Given the description of an element on the screen output the (x, y) to click on. 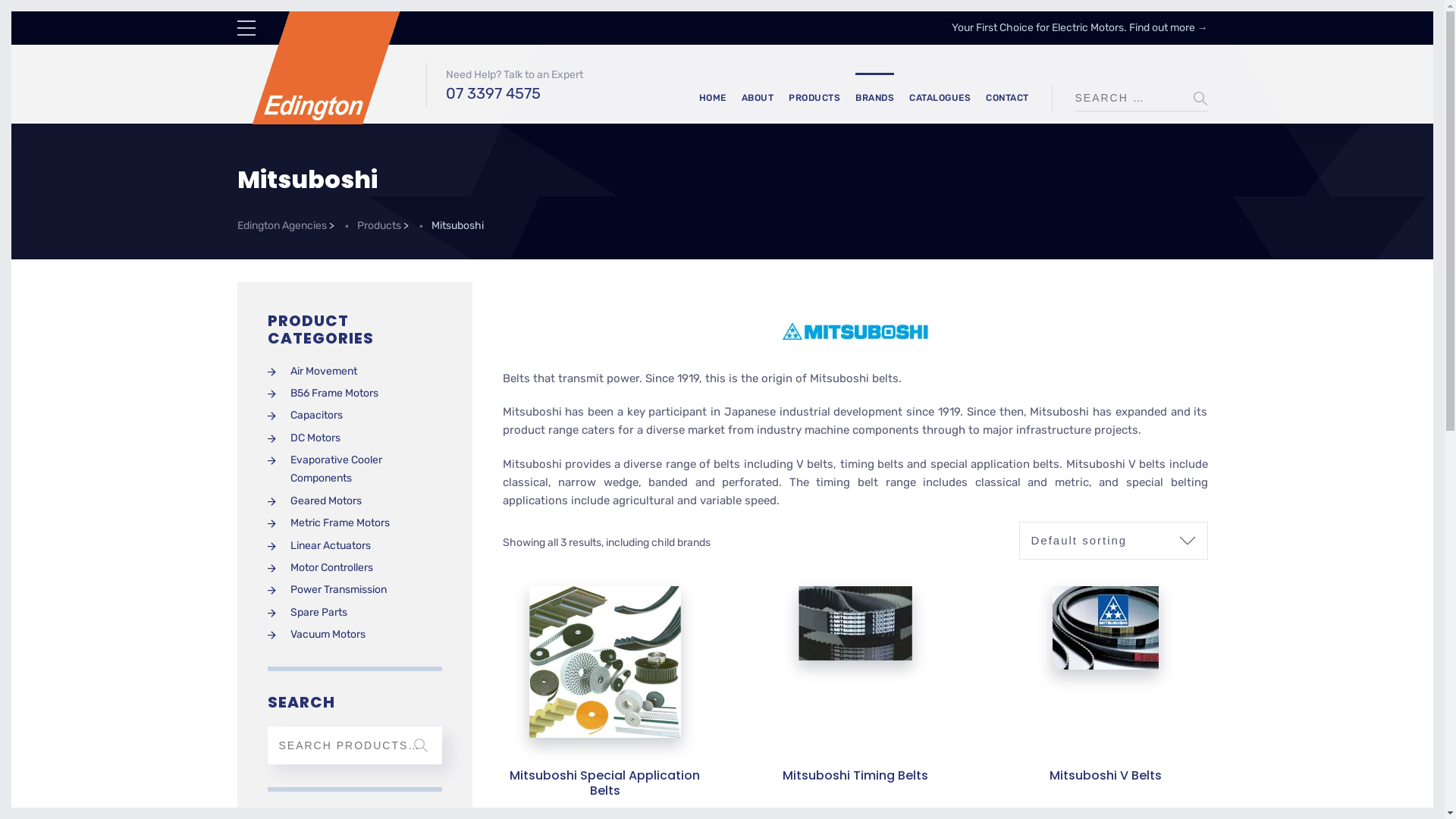
Mitsuboshi Timing Belts Element type: text (855, 775)
Products Element type: text (378, 236)
Geared Motors Element type: text (313, 501)
Air Movement Element type: text (311, 371)
07 3397 4575 Element type: text (514, 93)
Vacuum Motors Element type: text (315, 634)
Evaporative Cooler Components Element type: text (353, 469)
Mitsuboshi Special Application Belts Element type: text (604, 782)
PRODUCTS Element type: text (814, 97)
71 Element type: hover (1105, 627)
Linear Actuators Element type: text (318, 545)
Power Transmission Element type: text (325, 589)
Metric Frame Motors Element type: text (327, 523)
Edington Agencies Element type: text (281, 236)
Capacitors Element type: text (304, 415)
B56 Frame Motors Element type: text (321, 393)
86 Element type: hover (604, 661)
Motor Controllers Element type: text (319, 567)
Search Element type: text (419, 745)
Spare Parts Element type: text (306, 612)
Mitsuboshi V Belts Element type: text (1105, 775)
CONTACT Element type: text (1007, 97)
CATALOGUES Element type: text (939, 97)
Find out more Element type: text (1161, 27)
Search Element type: text (7, 7)
ABOUT Element type: text (757, 97)
DC Motors Element type: text (302, 438)
Search Element type: text (1199, 98)
HOME Element type: text (712, 97)
BRANDS Element type: text (874, 97)
72 Element type: hover (854, 623)
